Given the description of an element on the screen output the (x, y) to click on. 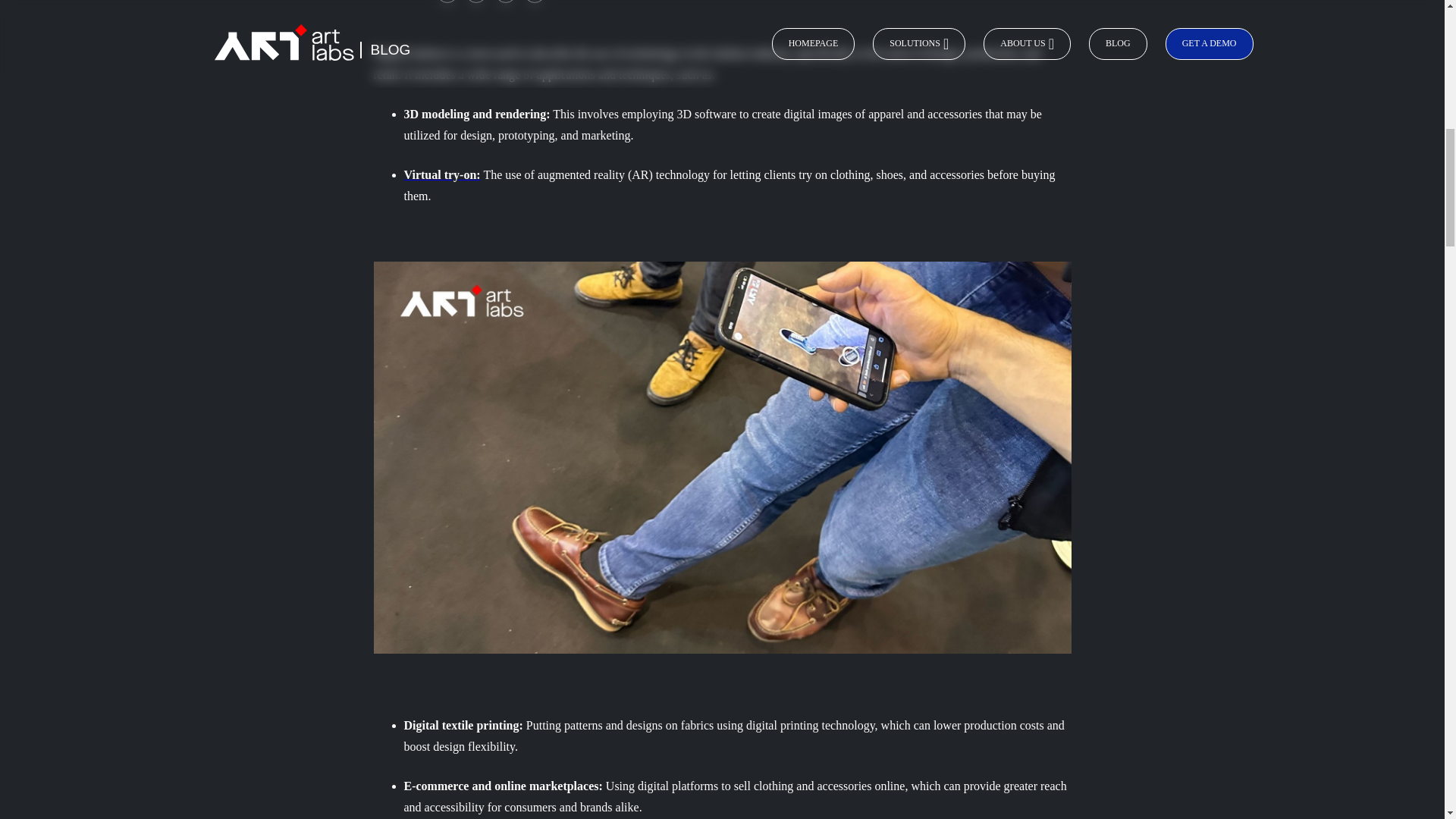
Virtual try-on: (441, 174)
